Given the description of an element on the screen output the (x, y) to click on. 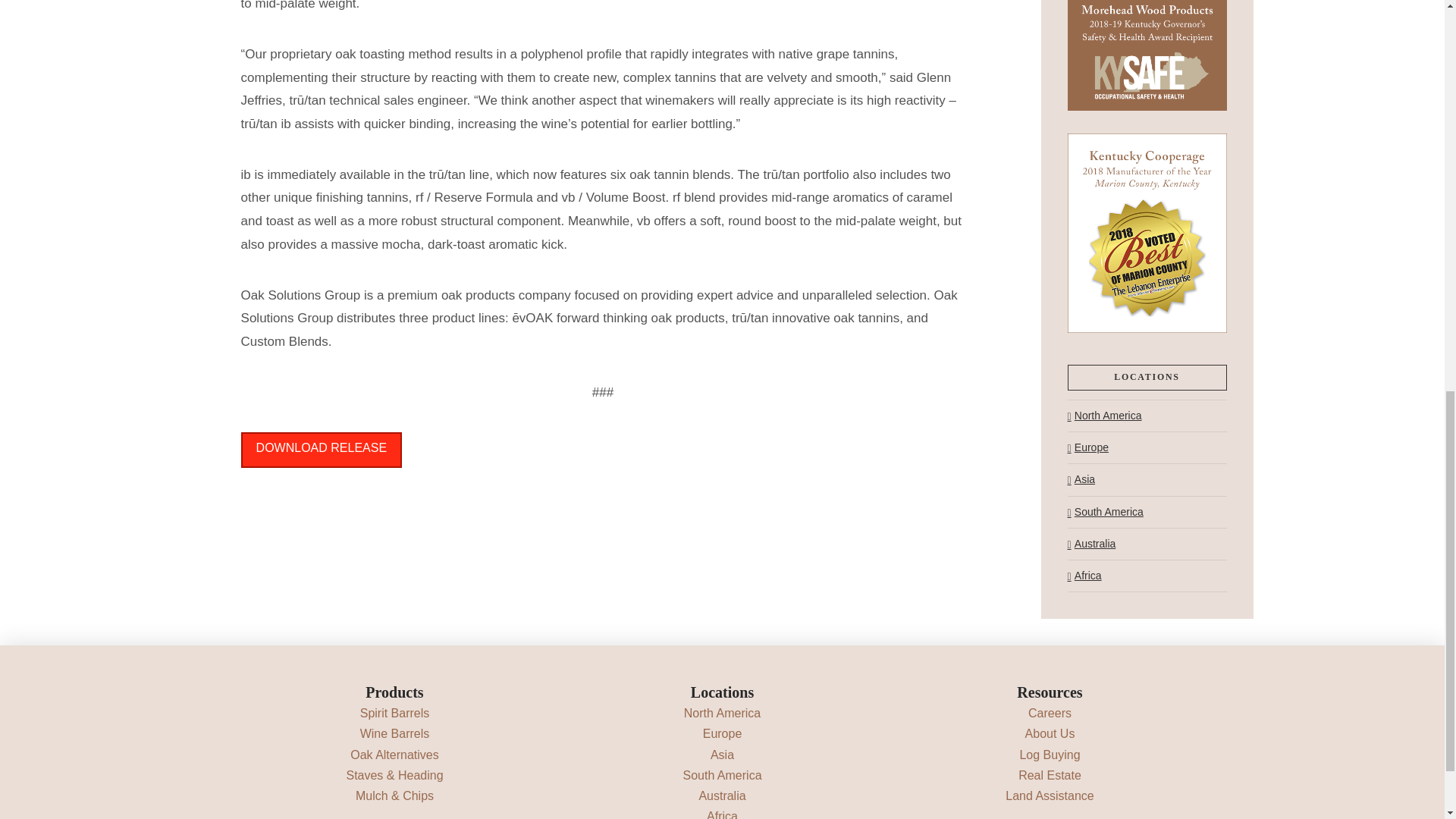
Australia (1091, 543)
Asia (1081, 479)
South America (1104, 511)
Europe (1087, 447)
Asia (721, 754)
North America (722, 712)
DOWNLOAD RELEASE (321, 449)
South America (721, 775)
Australia (721, 795)
Africa (1084, 575)
North America (1104, 415)
Wine Barrels (394, 733)
Oak Alternatives (394, 754)
Spirit Barrels (394, 712)
Europe (722, 733)
